Given the description of an element on the screen output the (x, y) to click on. 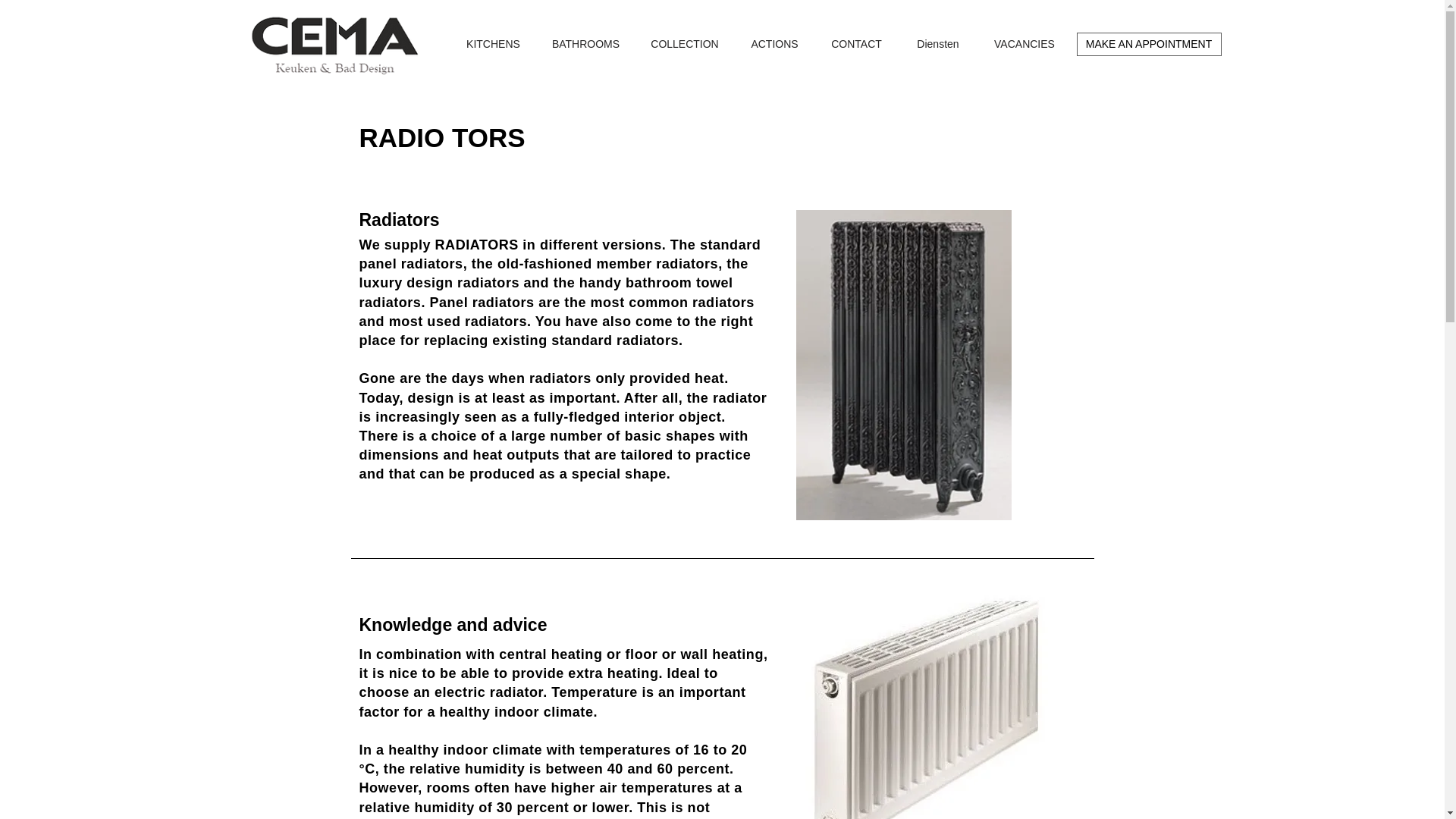
CONTACT (855, 44)
BATHROOMS (585, 44)
ACTIONS (773, 44)
VACANCIES (1024, 44)
Diensten (937, 44)
KITCHENS (493, 44)
cema.png (333, 44)
MAKE AN APPOINTMENT (1149, 44)
